Given the description of an element on the screen output the (x, y) to click on. 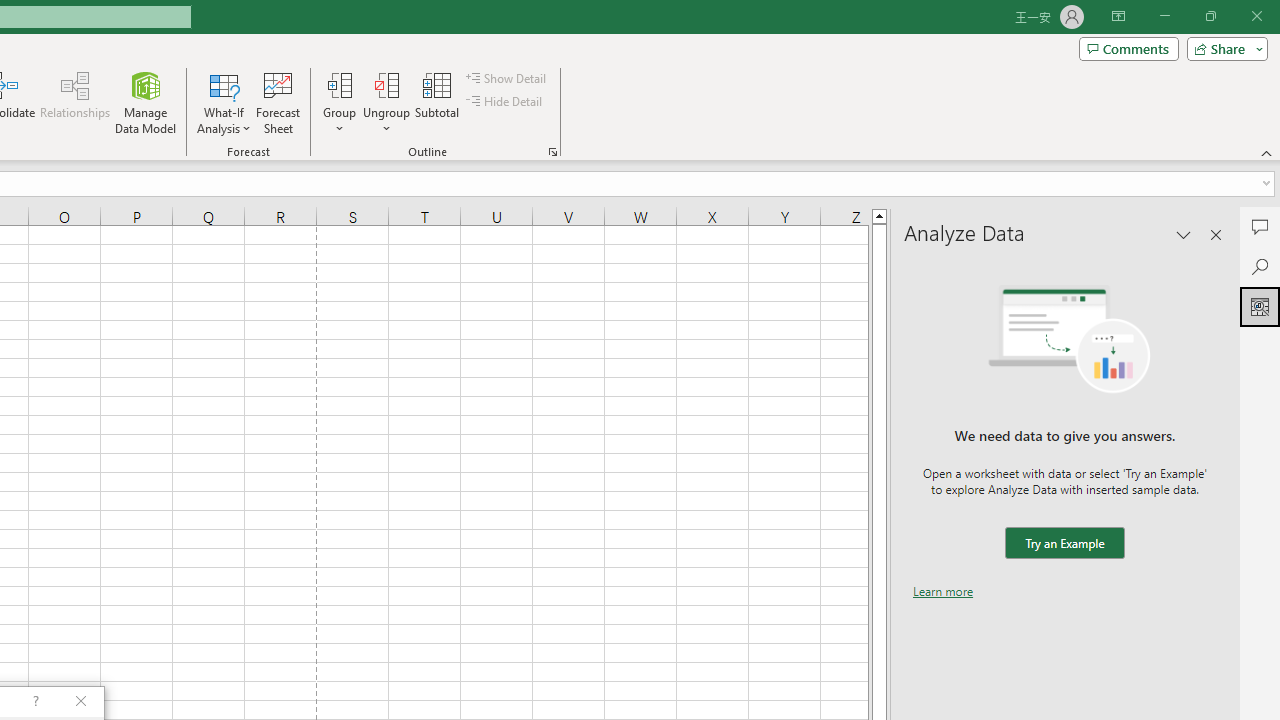
Group and Outline Settings (552, 151)
Manage Data Model (145, 102)
Subtotal (437, 102)
Forecast Sheet (278, 102)
Learn more (943, 591)
